Given the description of an element on the screen output the (x, y) to click on. 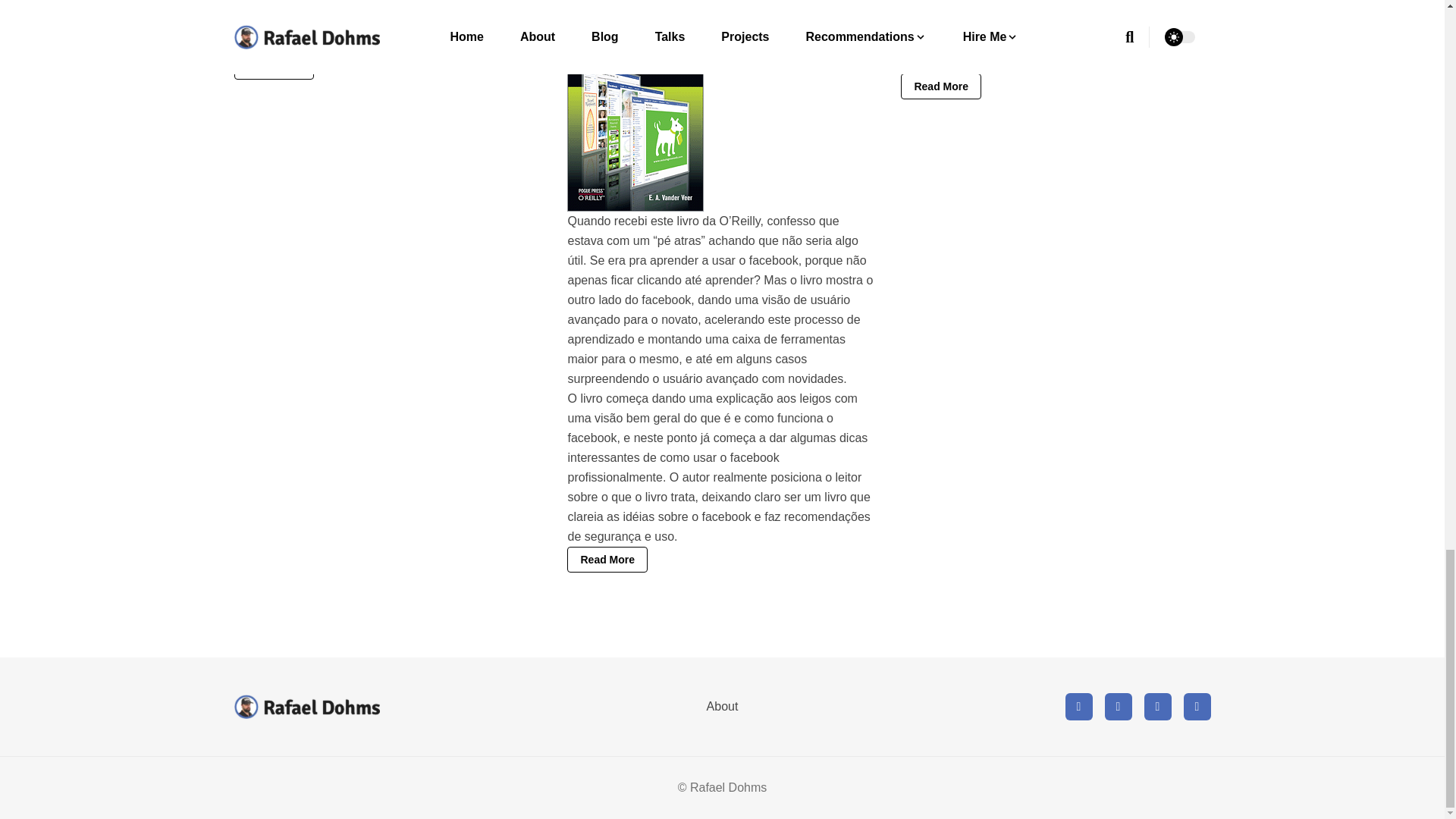
Read More (941, 86)
Read More (273, 66)
About (722, 706)
Read More (607, 559)
